Given the description of an element on the screen output the (x, y) to click on. 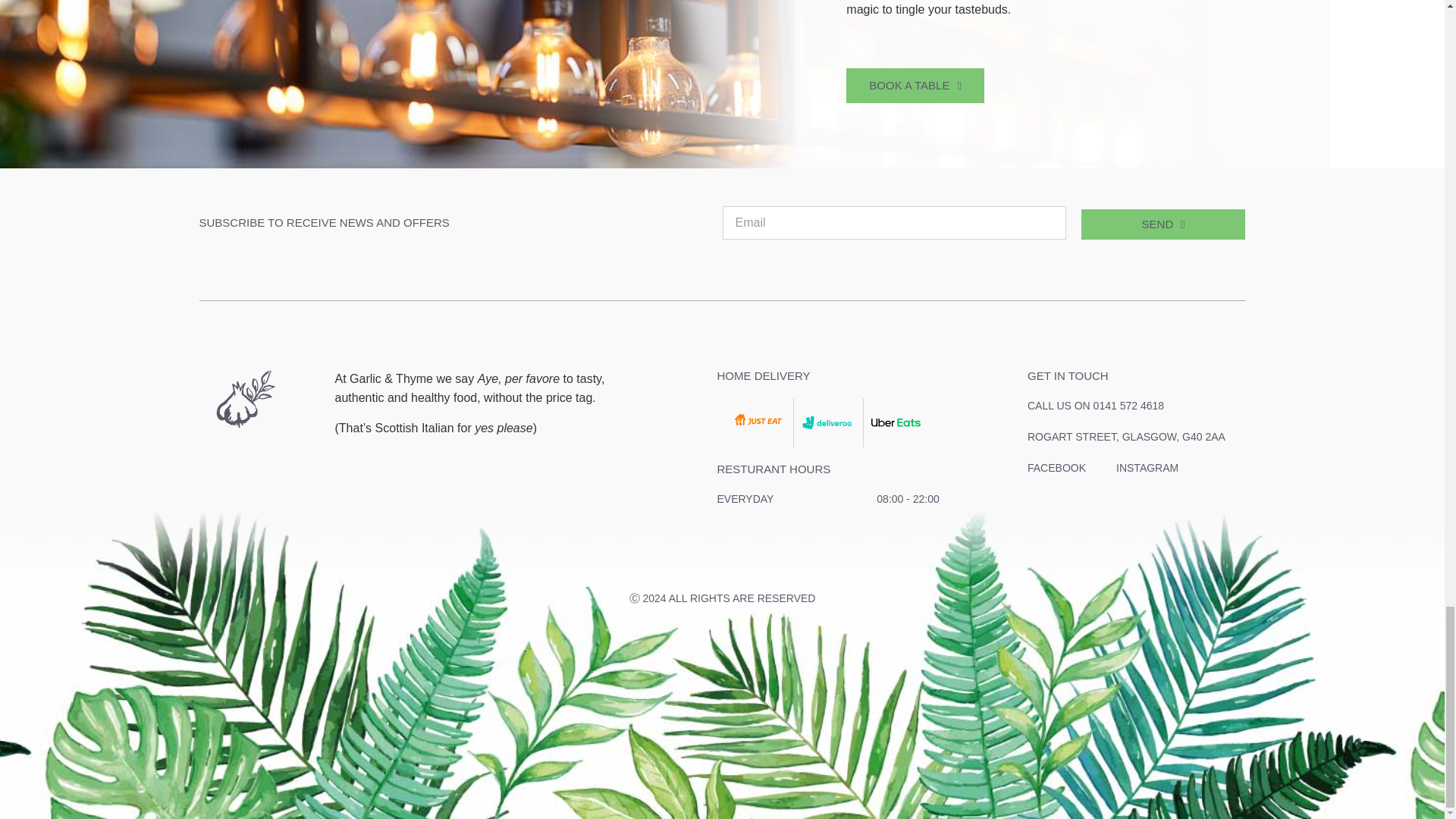
FACEBOOK (1056, 467)
SEND (1163, 224)
BOOK A TABLE (914, 85)
INSTAGRAM (1146, 467)
